Given the description of an element on the screen output the (x, y) to click on. 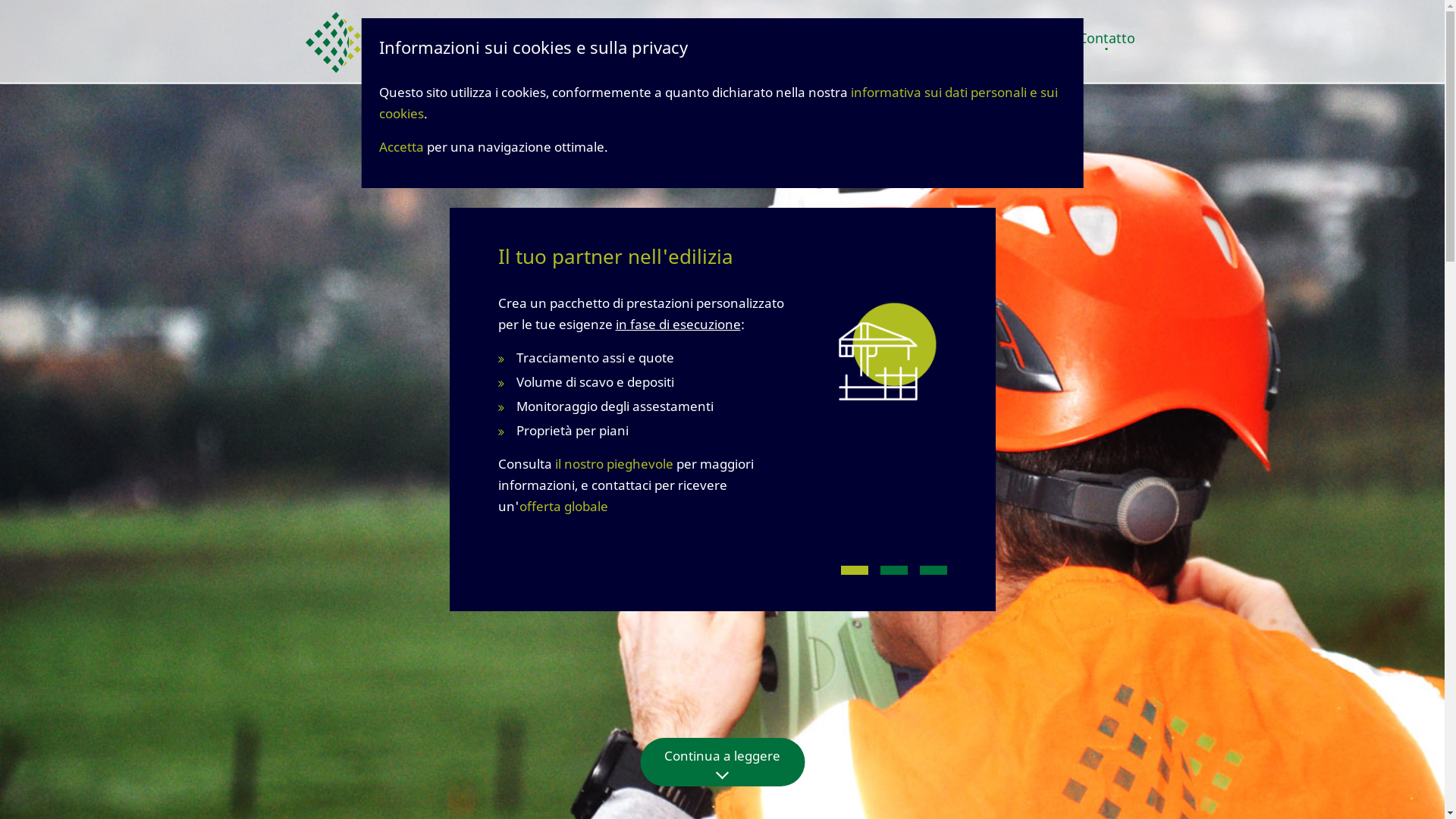
il nostro pieghevole Element type: text (614, 463)
Il tuo partner nell'edilizia Element type: hover (877, 360)
Contatto Element type: text (1106, 37)
Ordinazioni Element type: text (945, 37)
offerta globale Element type: text (562, 505)
Chi Siamo Element type: text (1029, 37)
Accetta Element type: text (401, 146)
informativa sui dati personali e sui cookies Element type: text (718, 102)
Continua a leggere Element type: text (722, 758)
Home Element type: text (812, 37)
